Given the description of an element on the screen output the (x, y) to click on. 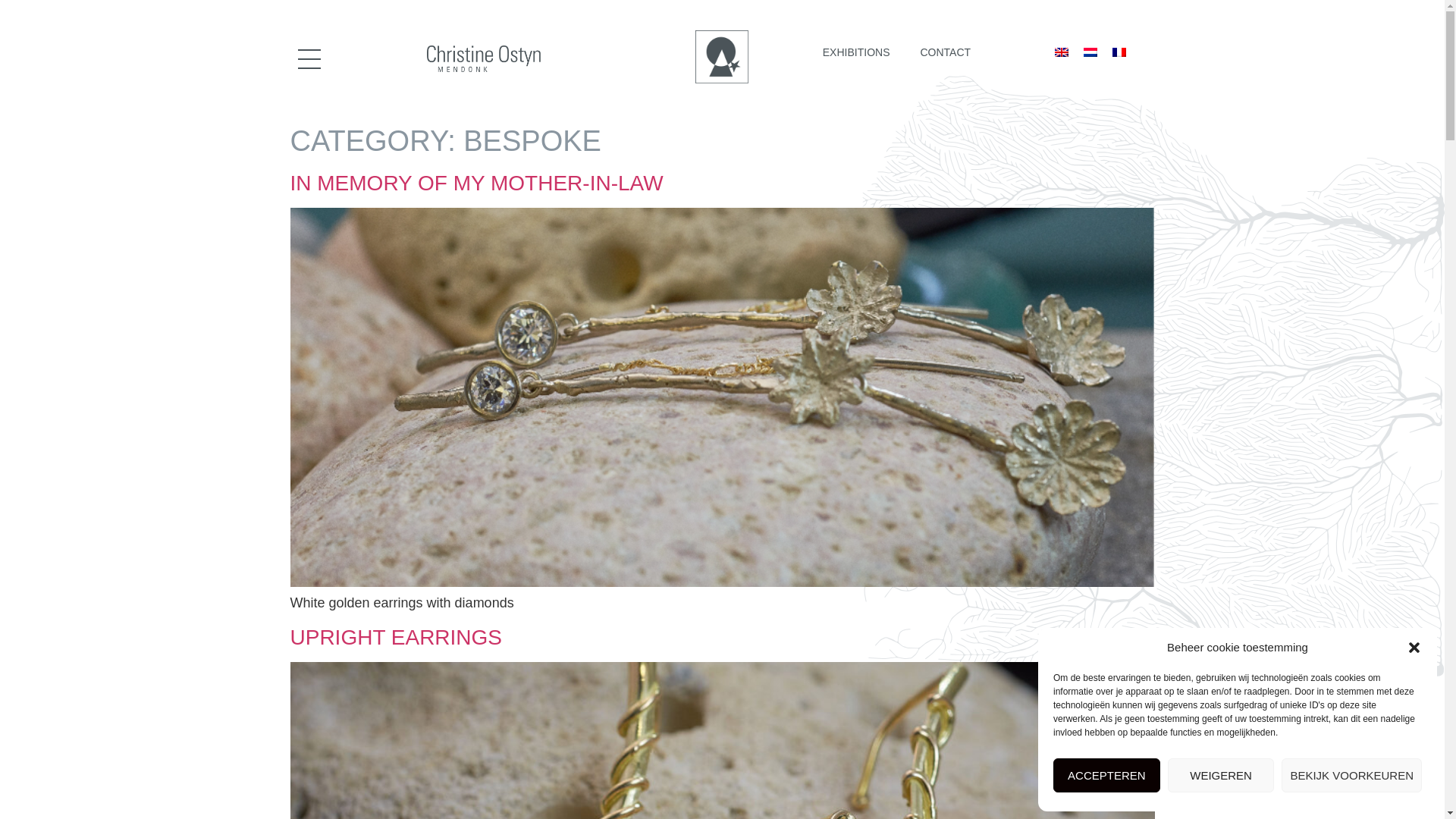
EXHIBITIONS (856, 52)
IN MEMORY OF MY MOTHER-IN-LAW (475, 182)
ACCEPTEREN (1106, 775)
BEKIJK VOORKEUREN (1351, 775)
WEIGEREN (1221, 775)
UPRIGHT EARRINGS (395, 637)
CONTACT (944, 52)
